Given the description of an element on the screen output the (x, y) to click on. 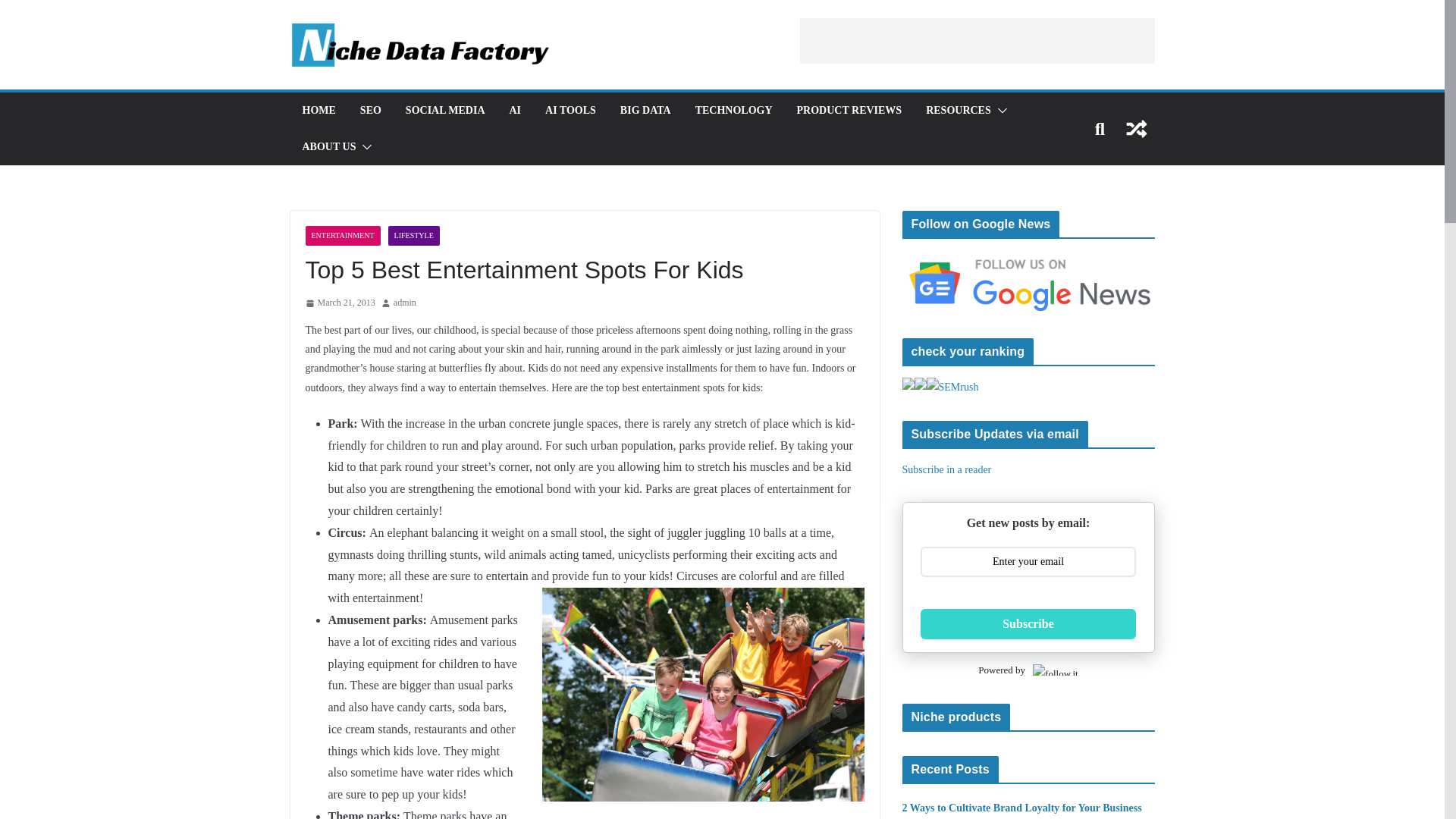
TECHNOLOGY (734, 110)
SEO Blogging Tools (958, 110)
amusement-park (702, 694)
SEO (370, 110)
March 21, 2013 (339, 303)
HOME (317, 110)
ENTERTAINMENT (342, 235)
View a random post (1136, 128)
PRODUCT REVIEWS (849, 110)
LIFESTYLE (413, 235)
admin (404, 303)
admin (404, 303)
9:18 am (339, 303)
BIG DATA (645, 110)
AI TOOLS (569, 110)
